Given the description of an element on the screen output the (x, y) to click on. 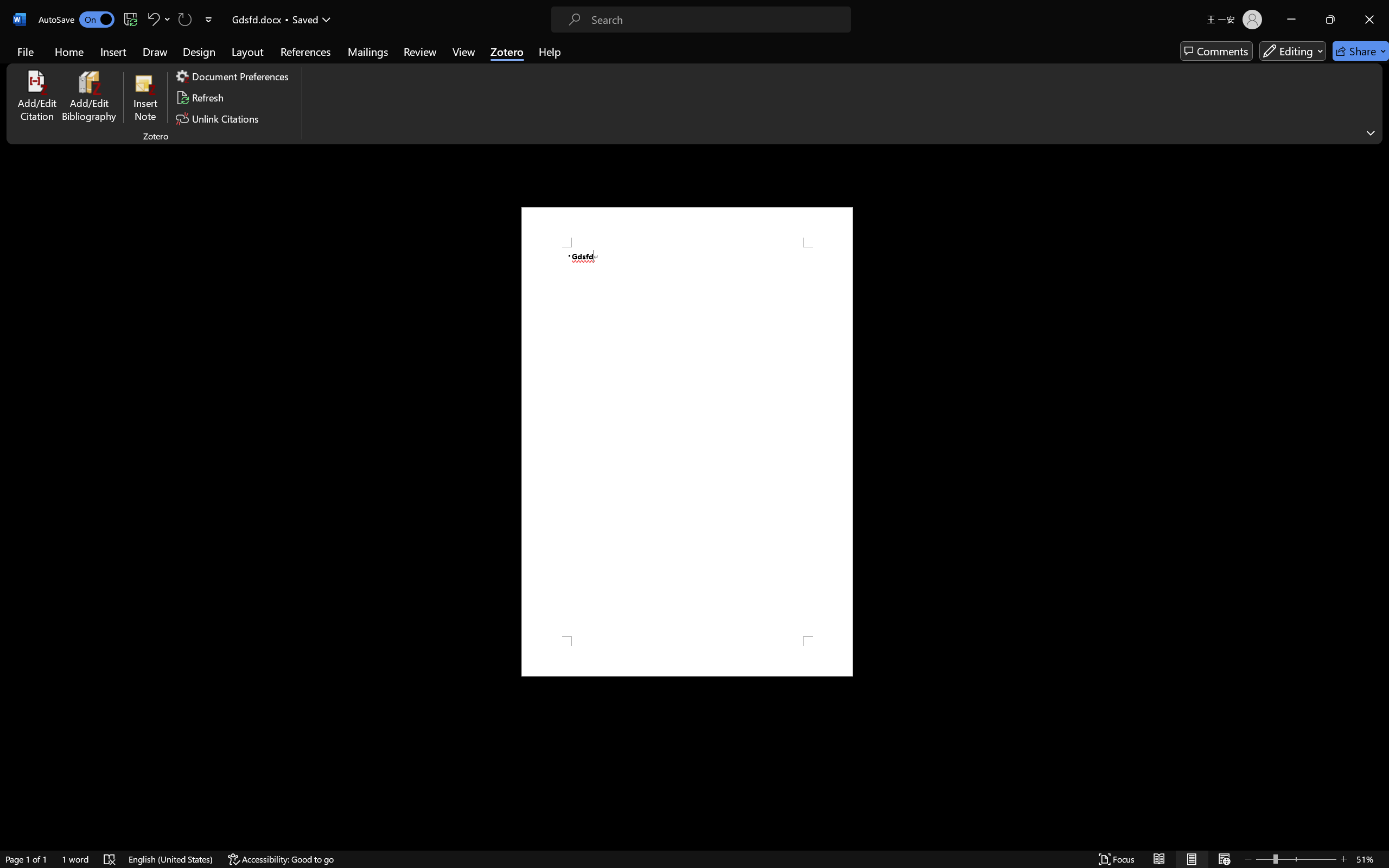
Page 1 content (686, 441)
